Given the description of an element on the screen output the (x, y) to click on. 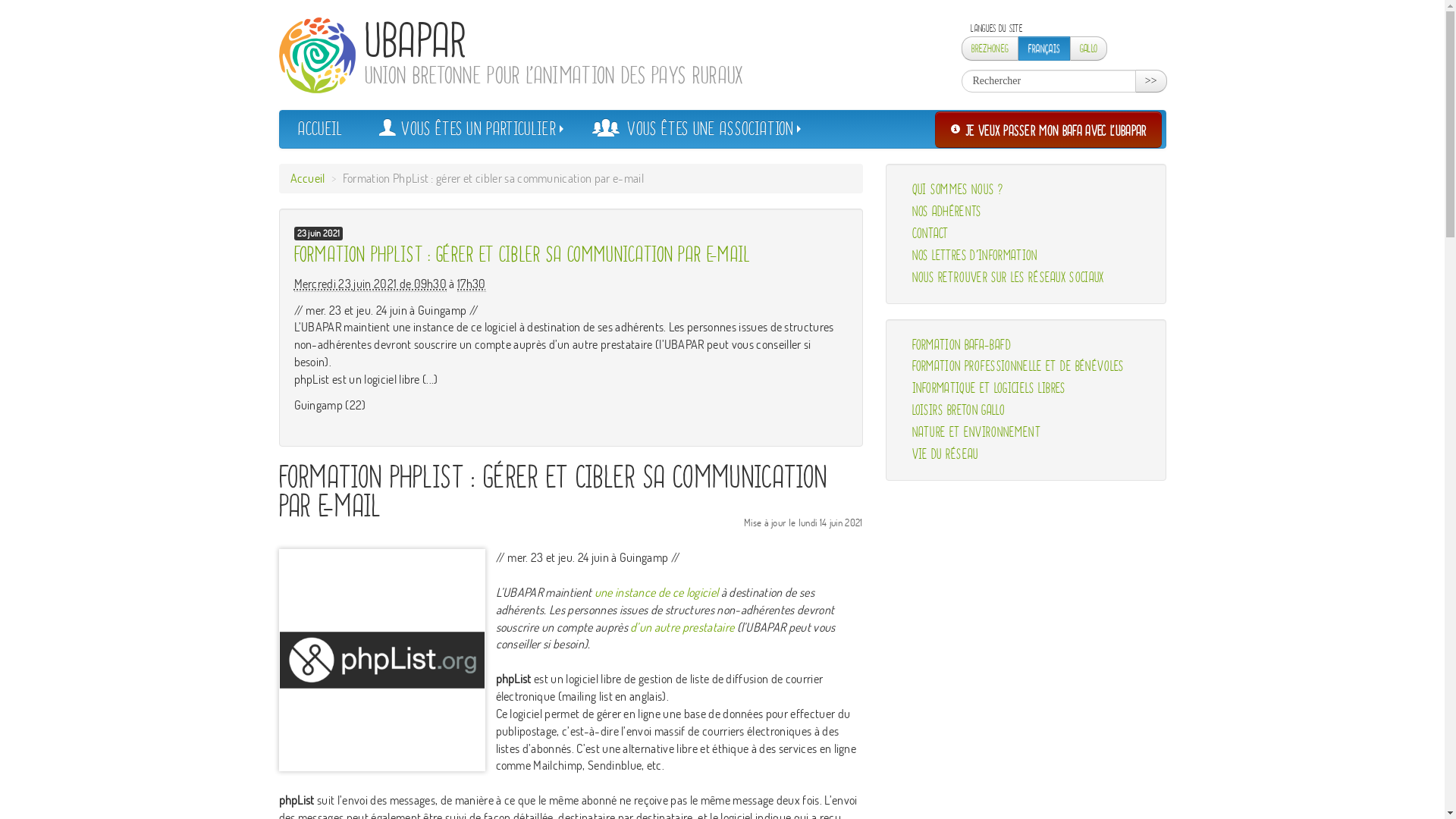
INFORMATIQUE ET LOGICIELS LIBRES Element type: text (1025, 388)
CONTACT Element type: text (1025, 233)
une instance de ce logiciel Element type: text (656, 591)
Rechercher Element type: text (1048, 80)
NATURE ET ENVIRONNEMENT Element type: text (1025, 432)
>> Element type: text (1151, 80)
LOISIRS BRETON GALLO Element type: text (1025, 410)
GALLO Element type: text (1088, 48)
FORMATION BAFA-BAFD Element type: text (1025, 344)
BREZHONEG Element type: text (989, 48)
ACCUEIL Element type: text (319, 128)
QUI SOMMES NOUS ? Element type: text (1025, 189)
Accueil Element type: text (306, 177)
